Given the description of an element on the screen output the (x, y) to click on. 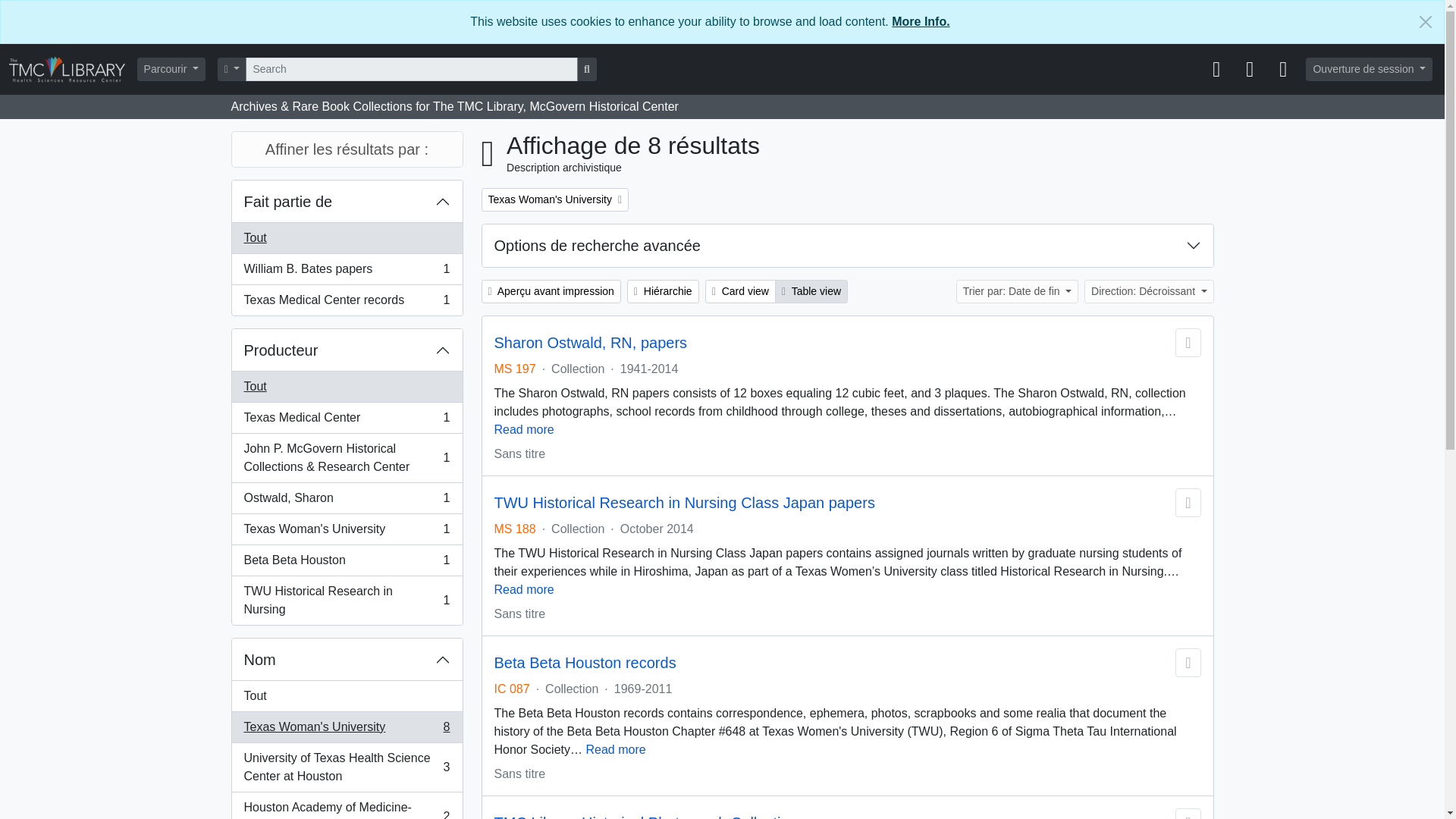
Accueil (72, 68)
Liens rapides (1283, 69)
Parcourir (170, 69)
Langue (1249, 69)
More Info. (920, 21)
Search in browse page (586, 69)
Search options (231, 69)
Clipboard (1216, 69)
Ouverture de session (1369, 69)
Skip to main content (54, 11)
